Given the description of an element on the screen output the (x, y) to click on. 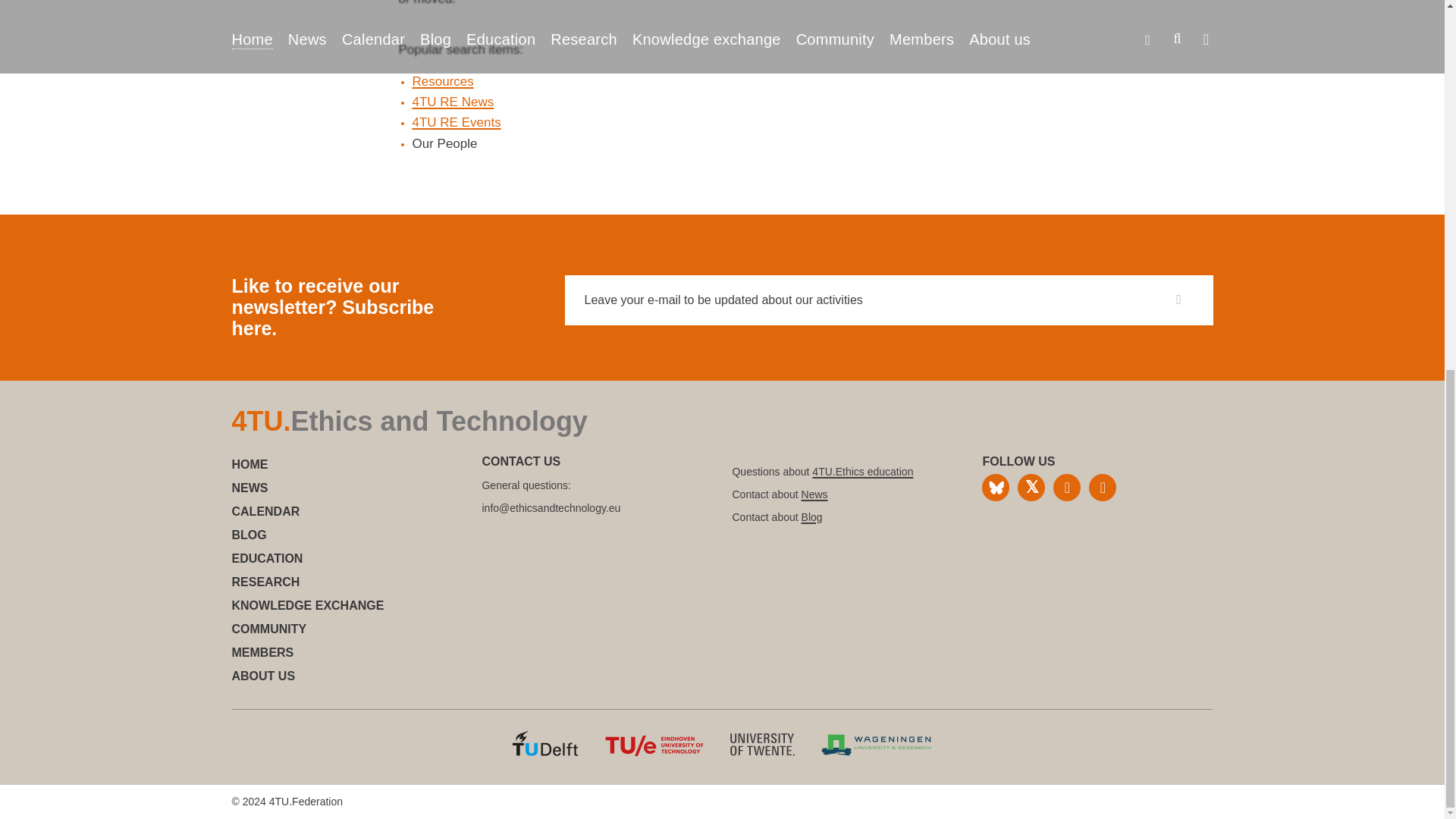
Wageningen University (876, 751)
Twitter (1031, 487)
BlueSky (995, 487)
TU Delft (545, 751)
TU Eindhoven (654, 751)
University of Twente (762, 751)
Facebook (1066, 487)
LinkedIn (1102, 487)
